Given the description of an element on the screen output the (x, y) to click on. 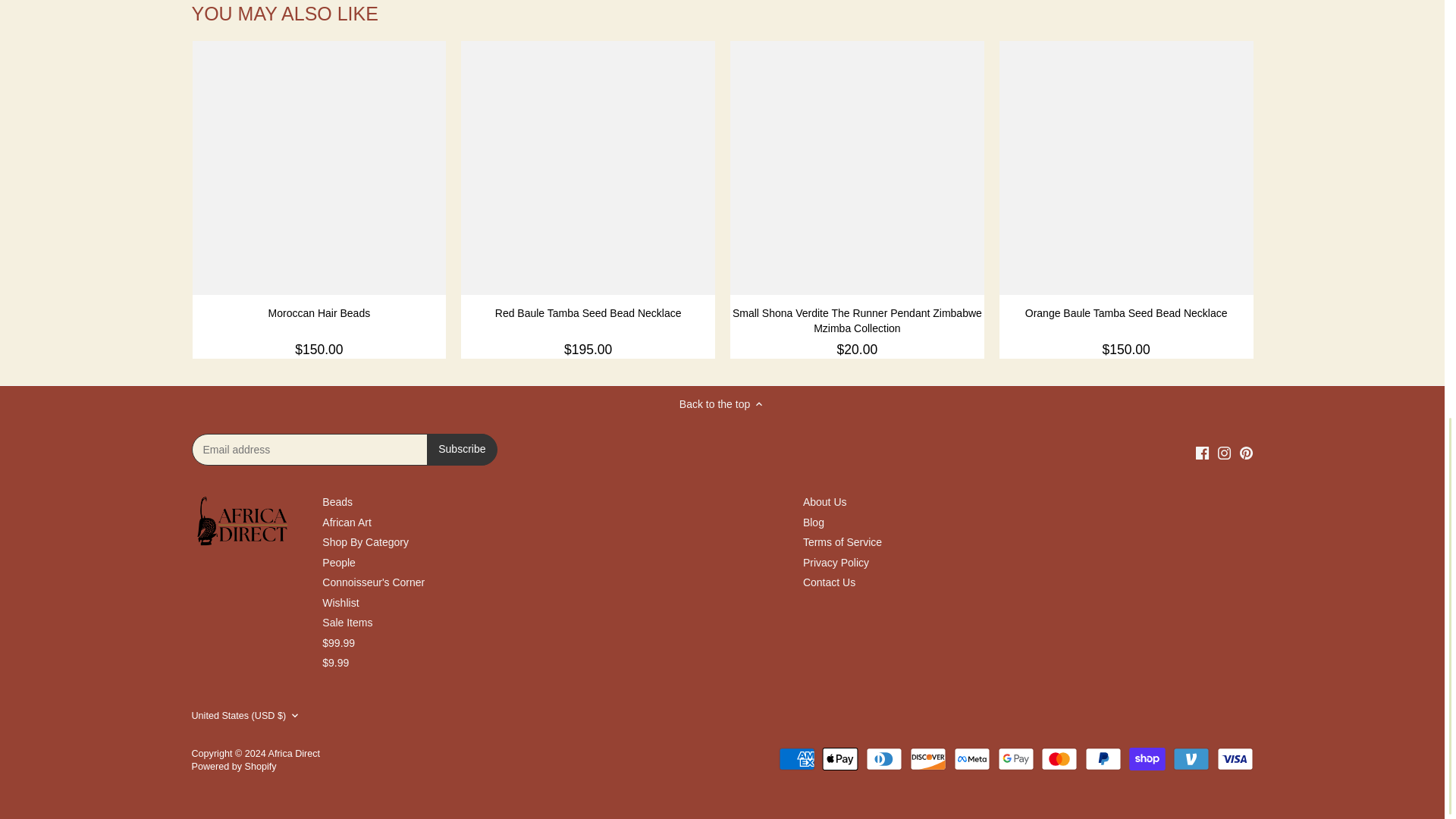
Subscribe (461, 450)
Pinterest (1246, 452)
Apple Pay (840, 758)
Instagram (1223, 452)
Meta Pay (971, 758)
Discover (928, 758)
Diners Club (884, 758)
American Express (796, 758)
Facebook (1201, 452)
